Given the description of an element on the screen output the (x, y) to click on. 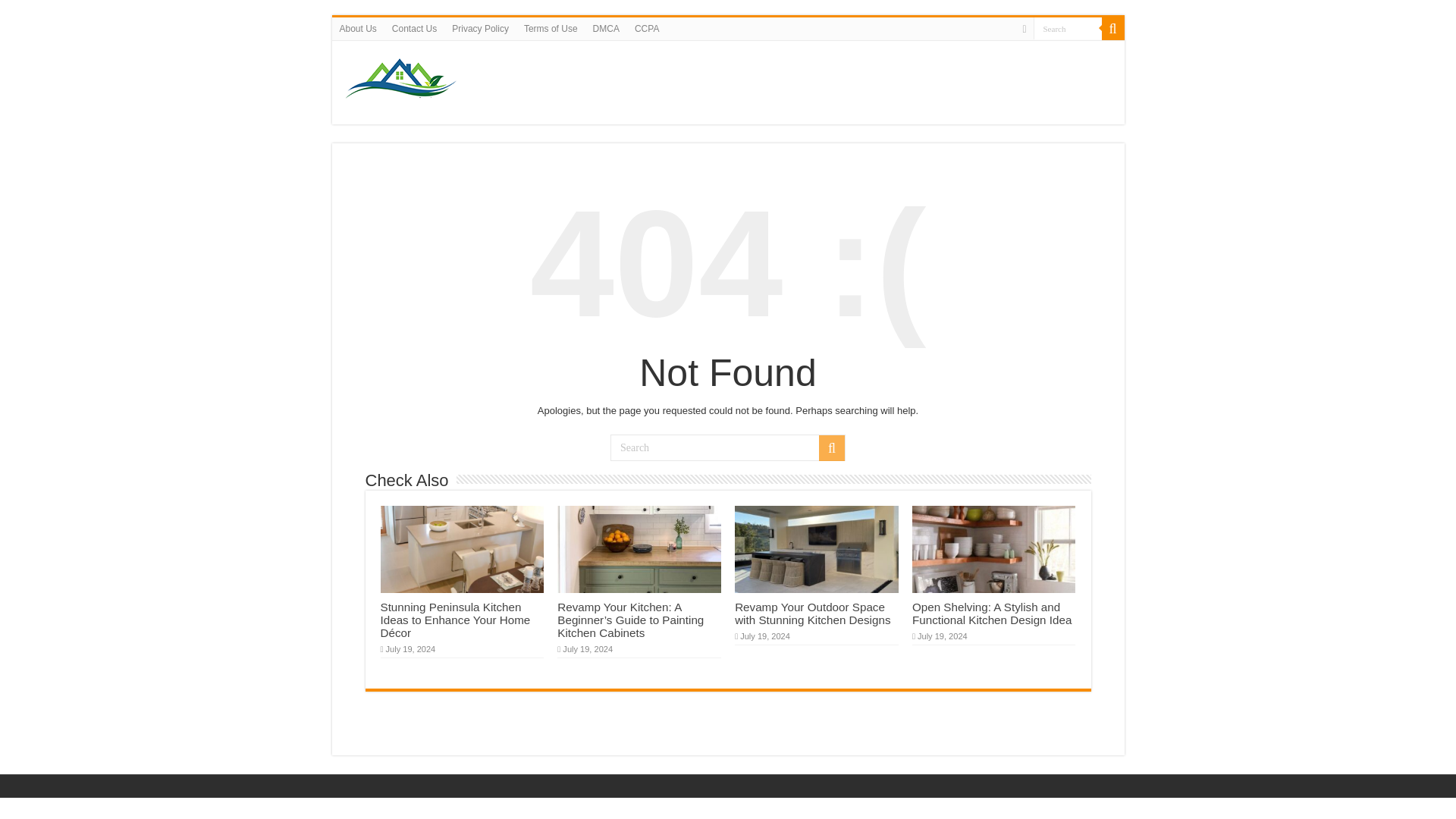
Search (1066, 28)
Decorationg (403, 79)
About Us (357, 28)
Search (831, 447)
Terms of Use (550, 28)
Open Shelving: A Stylish and Functional Kitchen Design Idea (991, 613)
Privacy Policy (480, 28)
Search (727, 447)
Search (1066, 28)
Search (1112, 28)
Contact Us (414, 28)
Search (1066, 28)
DMCA (606, 28)
Revamp Your Outdoor Space with Stunning Kitchen Designs (812, 613)
CCPA (646, 28)
